Given the description of an element on the screen output the (x, y) to click on. 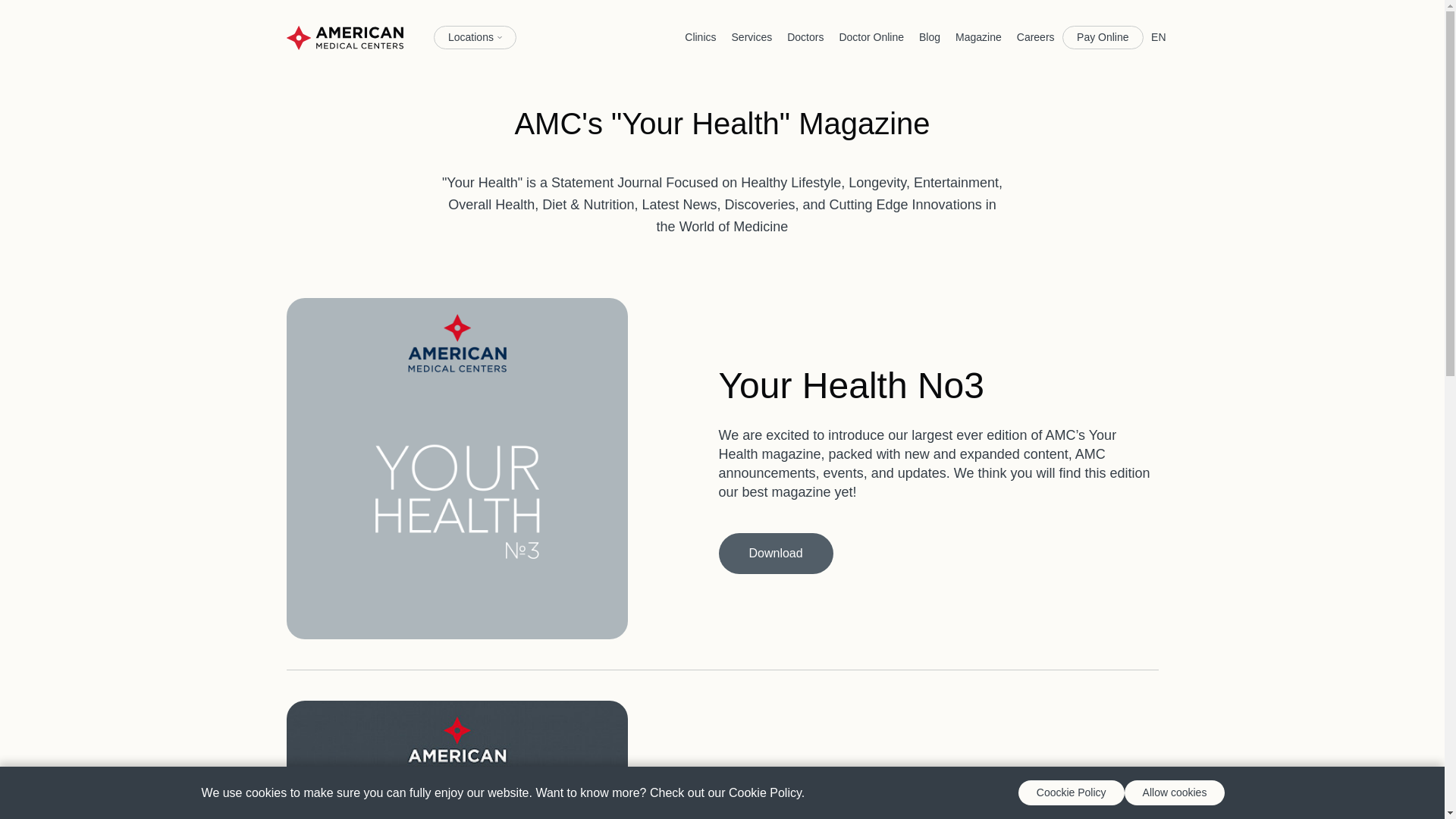
Locations (474, 37)
Magazine (978, 37)
Services (751, 37)
Careers (1035, 37)
Blog (929, 37)
Pay Online (1102, 37)
Doctor Online (871, 37)
Download (775, 553)
EN (1157, 37)
Doctors (804, 37)
Clinics (700, 37)
